Given the description of an element on the screen output the (x, y) to click on. 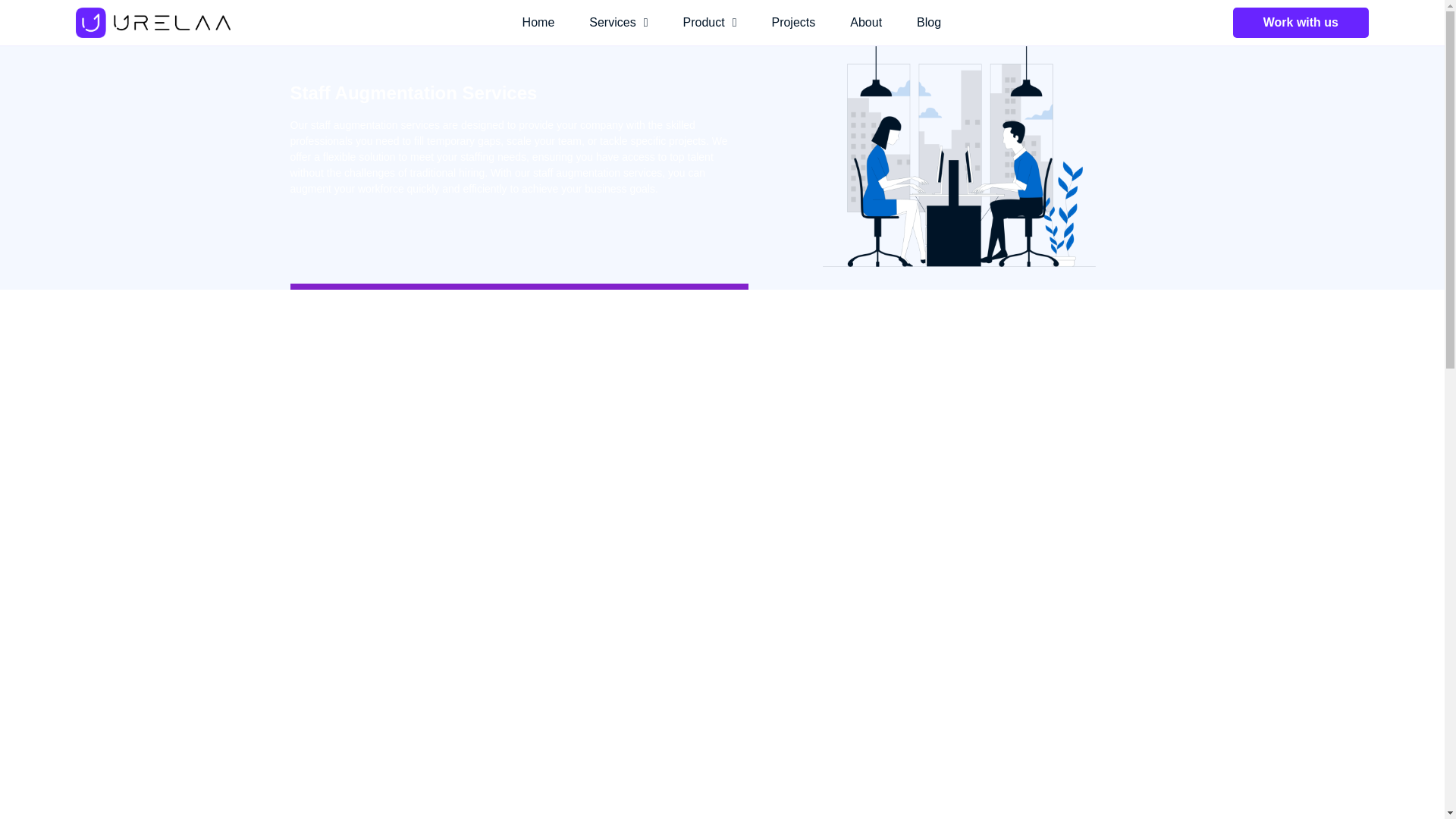
Work with us (1300, 22)
Projects (792, 22)
Blog (928, 22)
Services (617, 22)
Product (709, 22)
About (866, 22)
Home (538, 22)
